Given the description of an element on the screen output the (x, y) to click on. 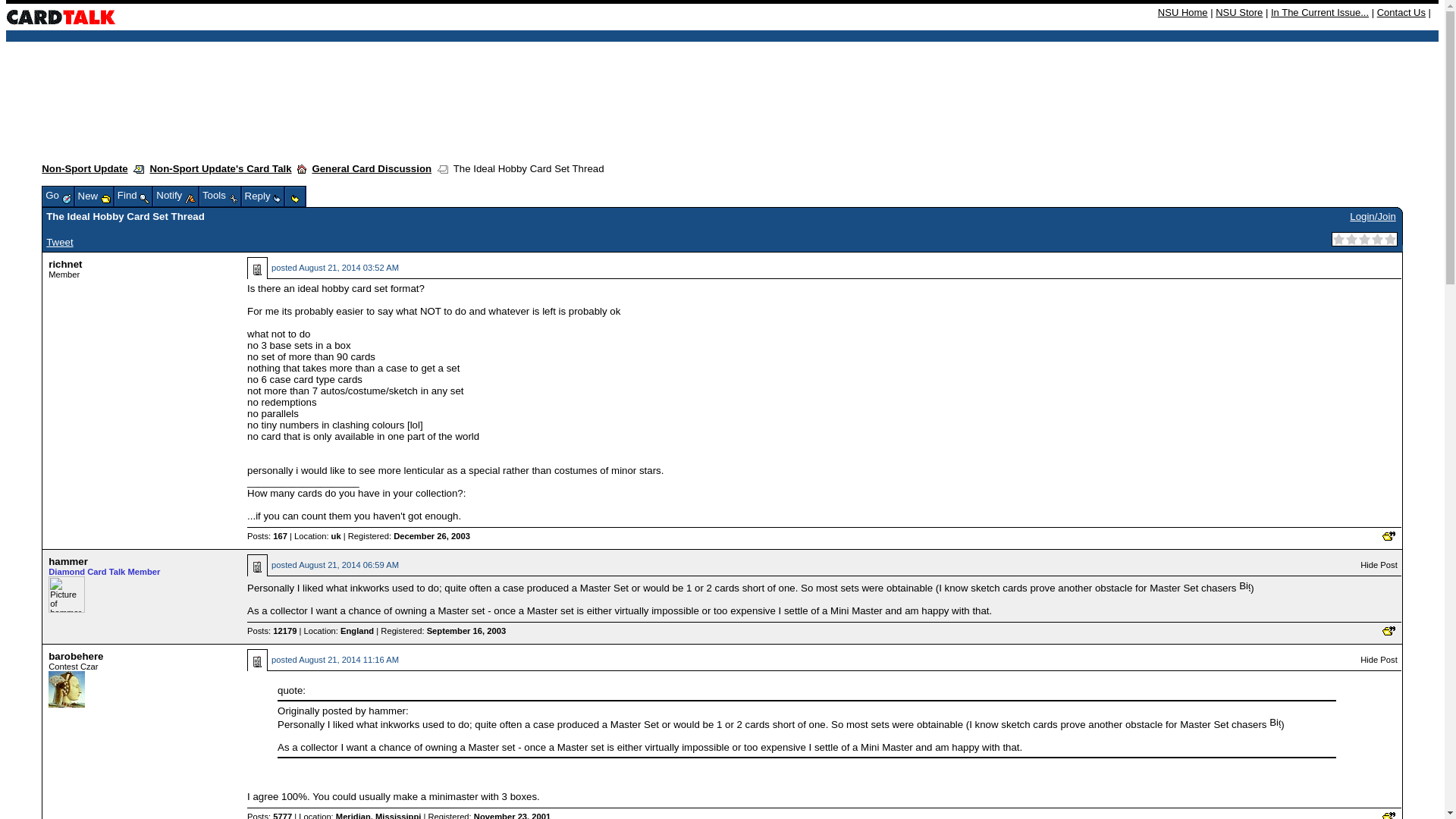
General Card Discussion (370, 168)
Picture of hammer (66, 594)
Non-Sport Update's Card Talk (220, 168)
Reply With Quote (1387, 815)
Reply With Quote (1387, 534)
NSU Home (1182, 12)
Non-Sport Update (85, 168)
Picture of barobehere (66, 688)
NSU Store (1238, 12)
GO (309, 172)
